Given the description of an element on the screen output the (x, y) to click on. 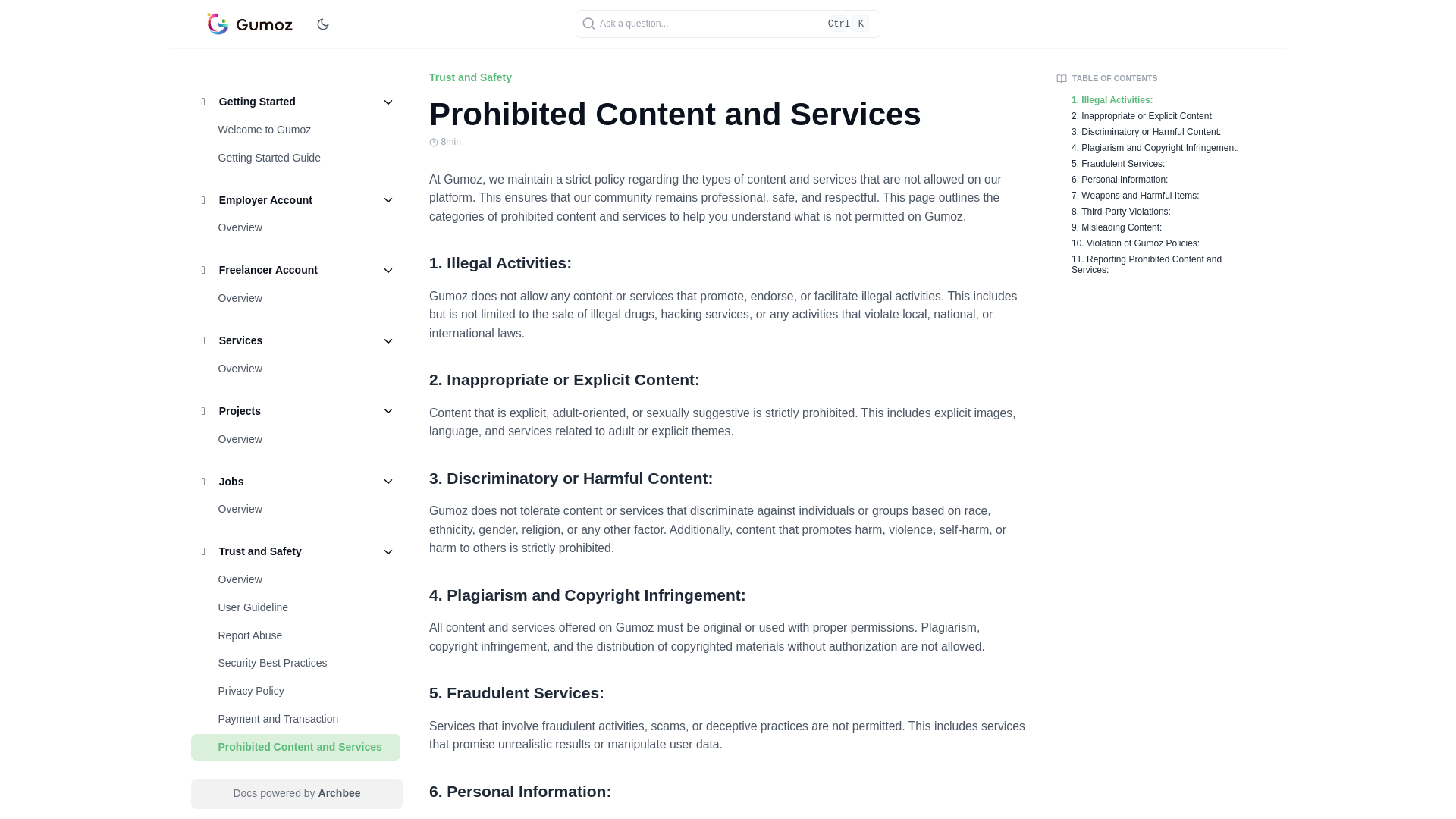
Welcome to Gumoz (309, 129)
2. Inappropriate or Explicit Content: (729, 379)
Payment and Transaction (309, 718)
Freelancer Account (302, 284)
Projects (301, 410)
Trust and Safety (301, 551)
User Guideline (309, 606)
Overview (302, 227)
Overview (240, 227)
Getting Started (302, 128)
